Given the description of an element on the screen output the (x, y) to click on. 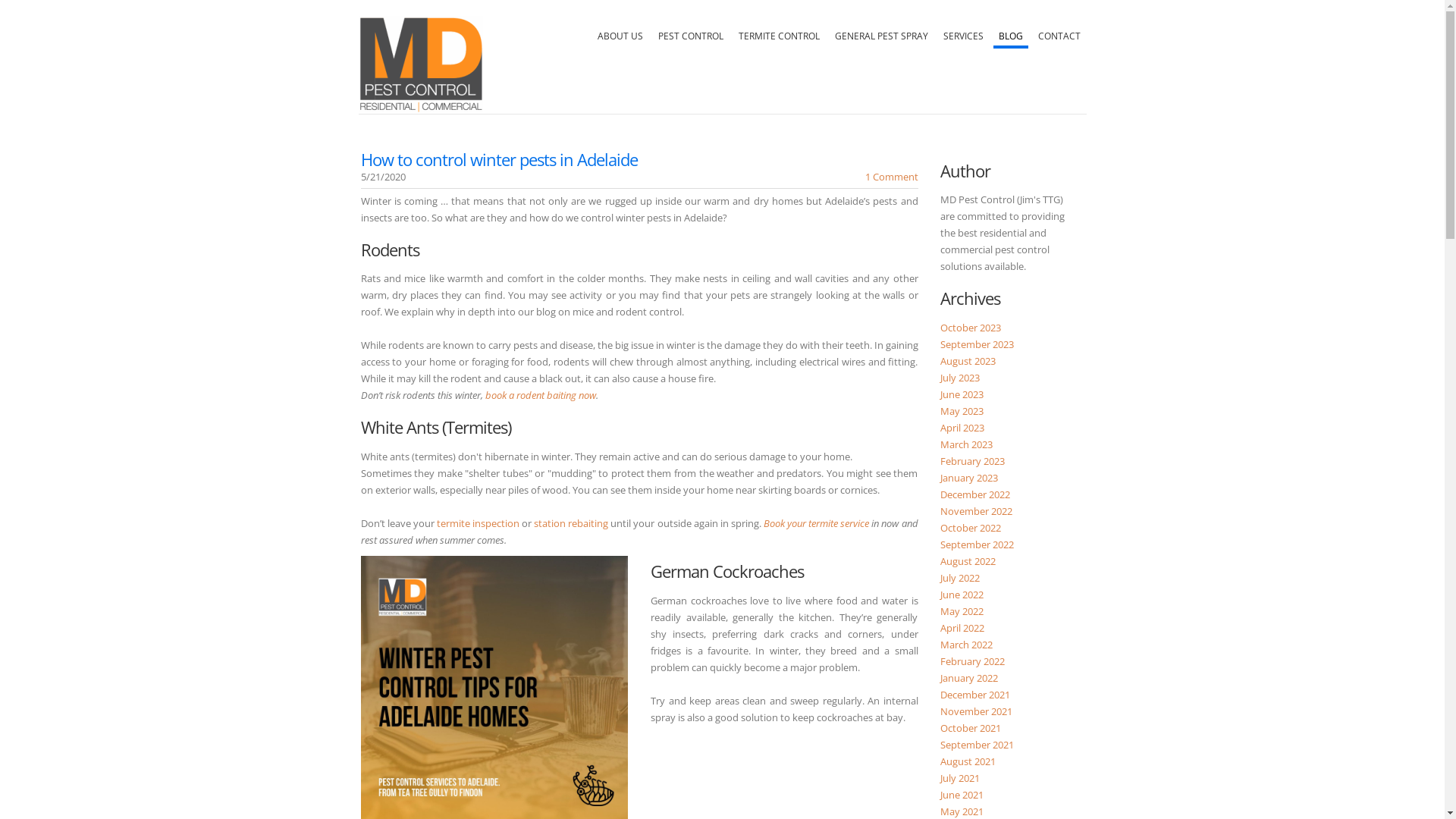
June 2022 Element type: text (961, 594)
May 2022 Element type: text (961, 611)
termite inspection Element type: text (477, 523)
GENERAL PEST SPRAY Element type: text (881, 31)
station rebaiting Element type: text (570, 523)
CONTACT Element type: text (1058, 31)
October 2023 Element type: text (970, 327)
July 2022 Element type: text (959, 577)
December 2022 Element type: text (975, 494)
SERVICES Element type: text (962, 31)
How to control winter pests in Adelaide Element type: text (498, 158)
1 Comment Element type: text (890, 176)
October 2022 Element type: text (970, 527)
March 2023 Element type: text (966, 444)
June 2023 Element type: text (961, 394)
March 2022 Element type: text (966, 644)
January 2023 Element type: text (968, 477)
April 2022 Element type: text (962, 627)
December 2021 Element type: text (975, 694)
October 2021 Element type: text (970, 727)
June 2021 Element type: text (961, 794)
book a rodent baiting now Element type: text (540, 394)
November 2021 Element type: text (976, 711)
Book your termite service Element type: text (816, 523)
May 2023 Element type: text (961, 410)
September 2021 Element type: text (976, 744)
August 2022 Element type: text (967, 560)
August 2021 Element type: text (967, 761)
January 2022 Element type: text (968, 677)
May 2021 Element type: text (961, 811)
BLOG Element type: text (1010, 31)
August 2023 Element type: text (967, 360)
April 2023 Element type: text (962, 427)
February 2022 Element type: text (972, 661)
September 2023 Element type: text (976, 344)
September 2022 Element type: text (976, 544)
PEST CONTROL Element type: text (690, 31)
February 2023 Element type: text (972, 460)
TERMITE CONTROL Element type: text (778, 31)
July 2021 Element type: text (959, 777)
November 2022 Element type: text (976, 510)
ABOUT US Element type: text (619, 31)
July 2023 Element type: text (959, 377)
